Given the description of an element on the screen output the (x, y) to click on. 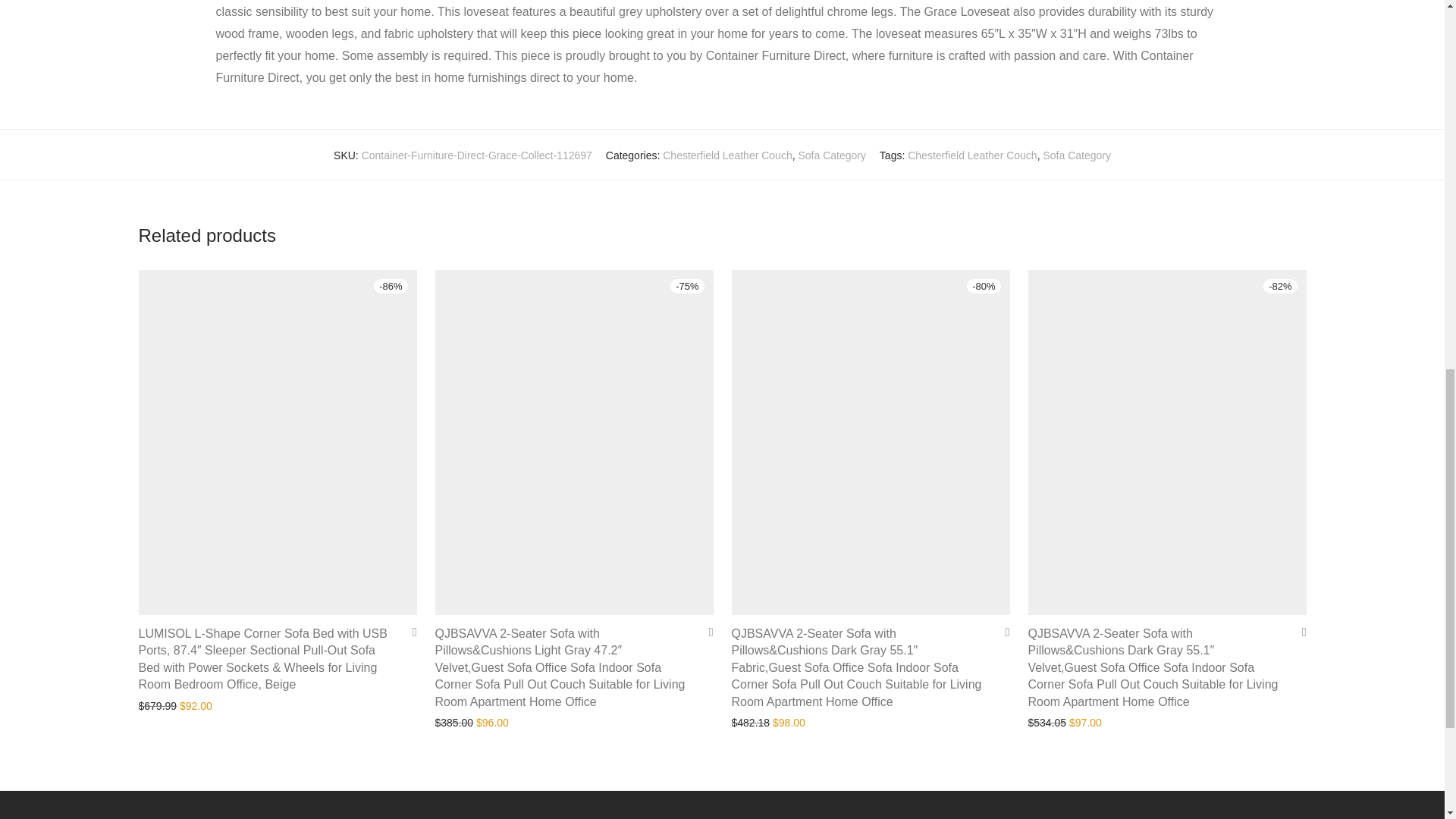
Add to Wishlist (408, 631)
Add to Wishlist (705, 631)
Add to Wishlist (1001, 631)
